Given the description of an element on the screen output the (x, y) to click on. 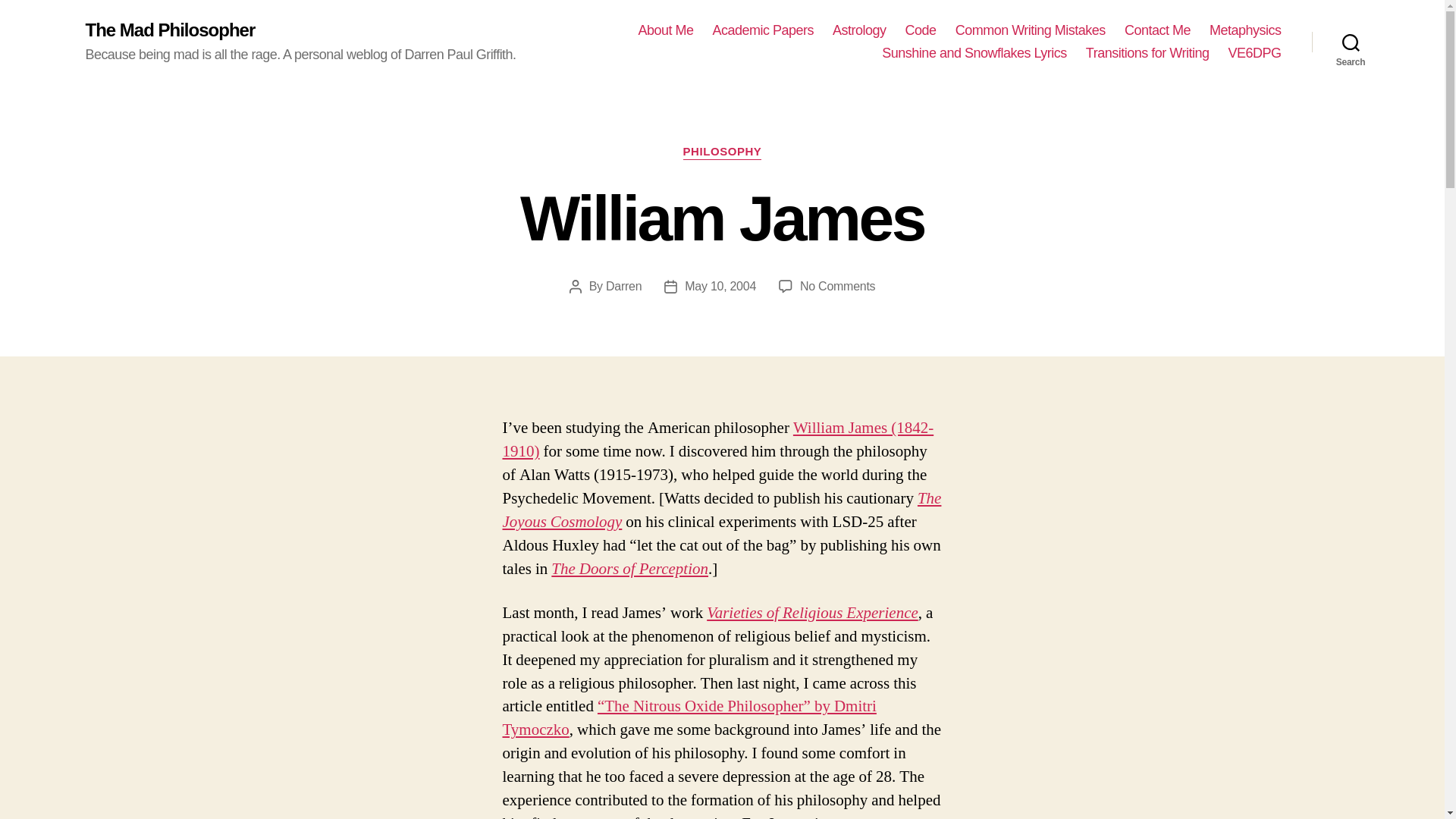
Common Writing Mistakes (1030, 30)
VE6DPG (1254, 53)
Code (920, 30)
Transitions for Writing (1147, 53)
Search (1350, 41)
The Joyous Cosmology (721, 510)
Darren (623, 286)
Sunshine and Snowflakes Lyrics (974, 53)
The Mad Philosopher (169, 30)
May 10, 2004 (719, 286)
